Given the description of an element on the screen output the (x, y) to click on. 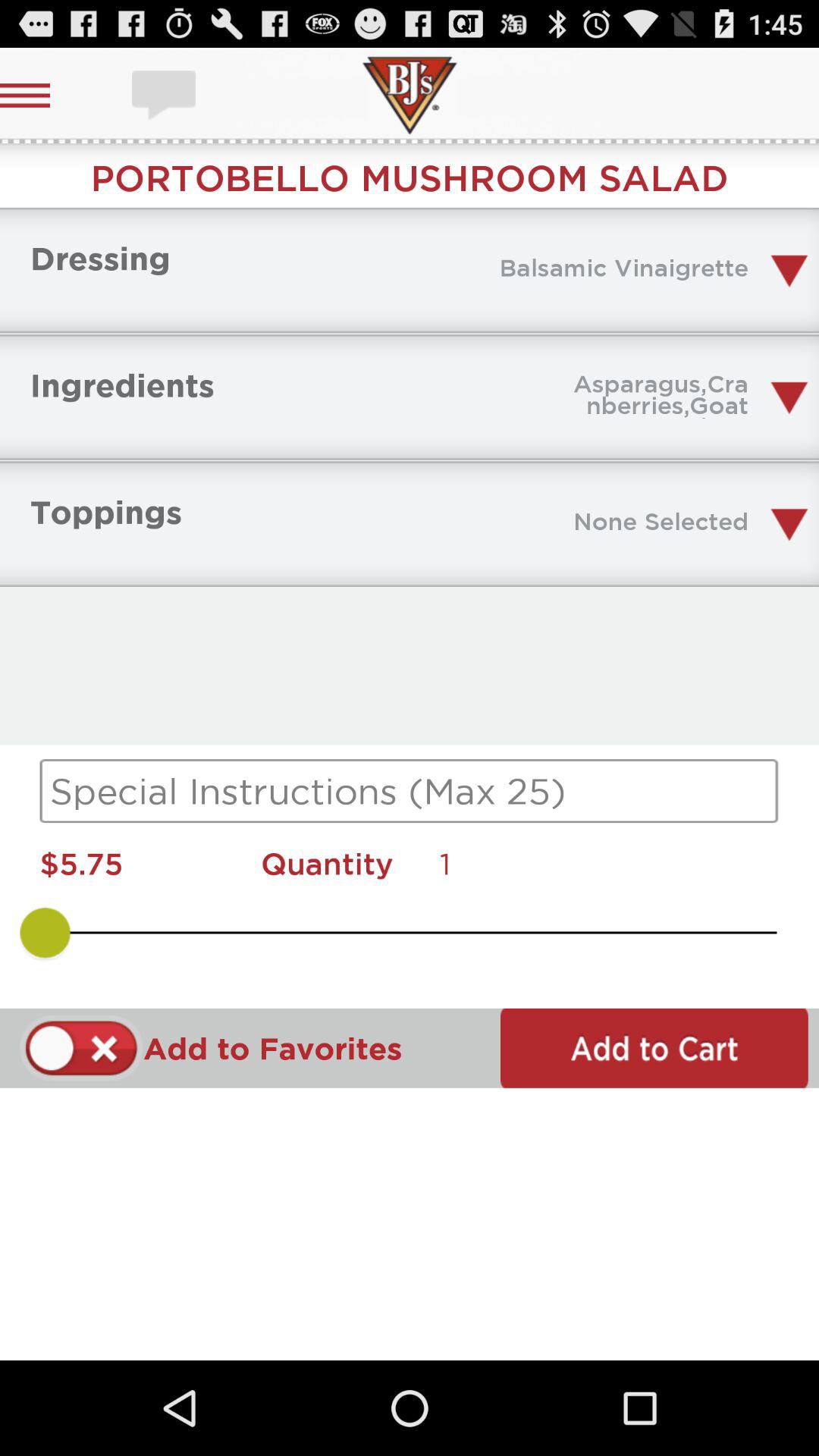
enable option to add favorites (81, 1048)
